Given the description of an element on the screen output the (x, y) to click on. 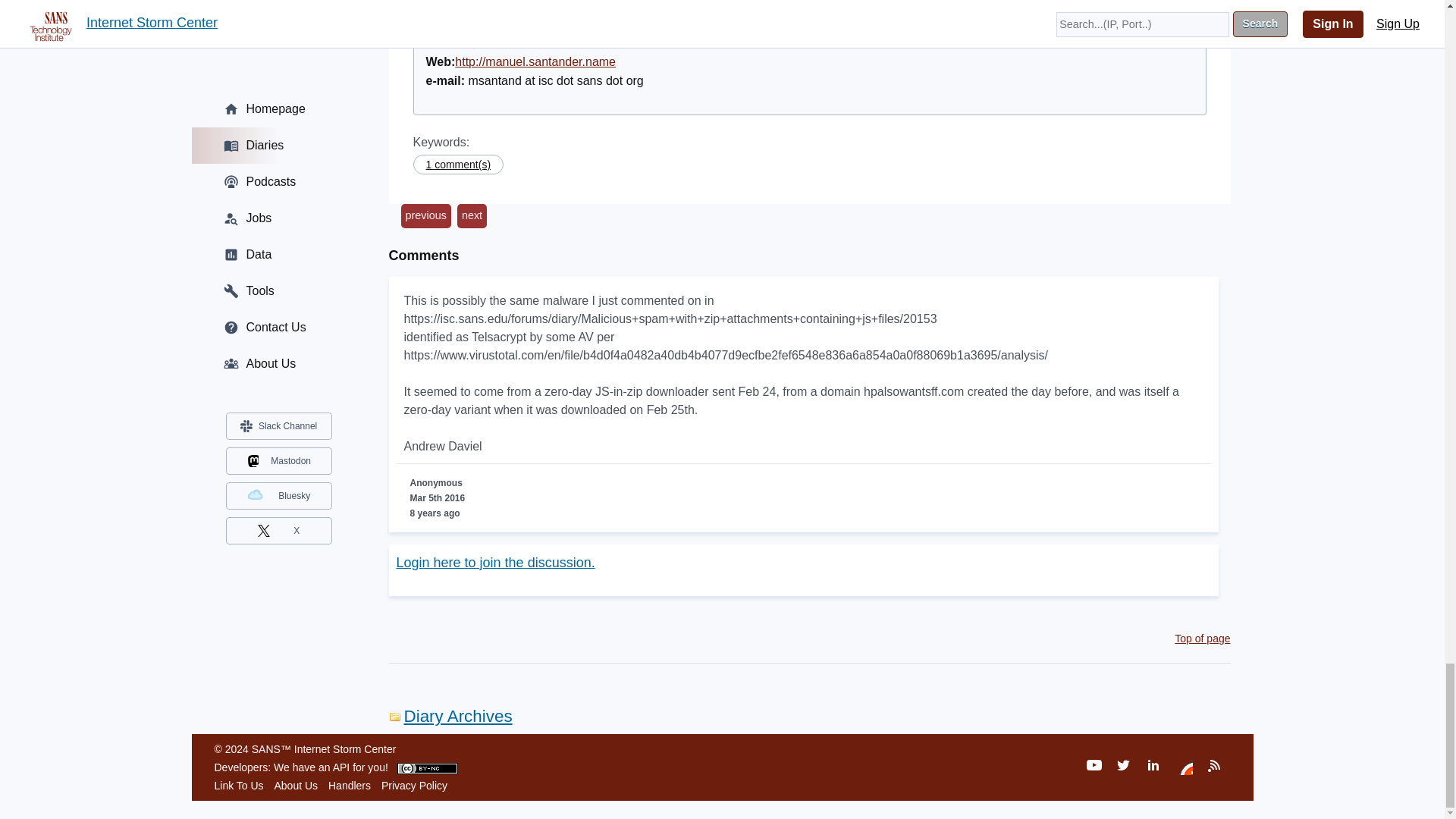
Diary Archives (450, 715)
previous (424, 215)
Top of page (1202, 638)
Login here to join the discussion. (495, 562)
next (471, 215)
